Given the description of an element on the screen output the (x, y) to click on. 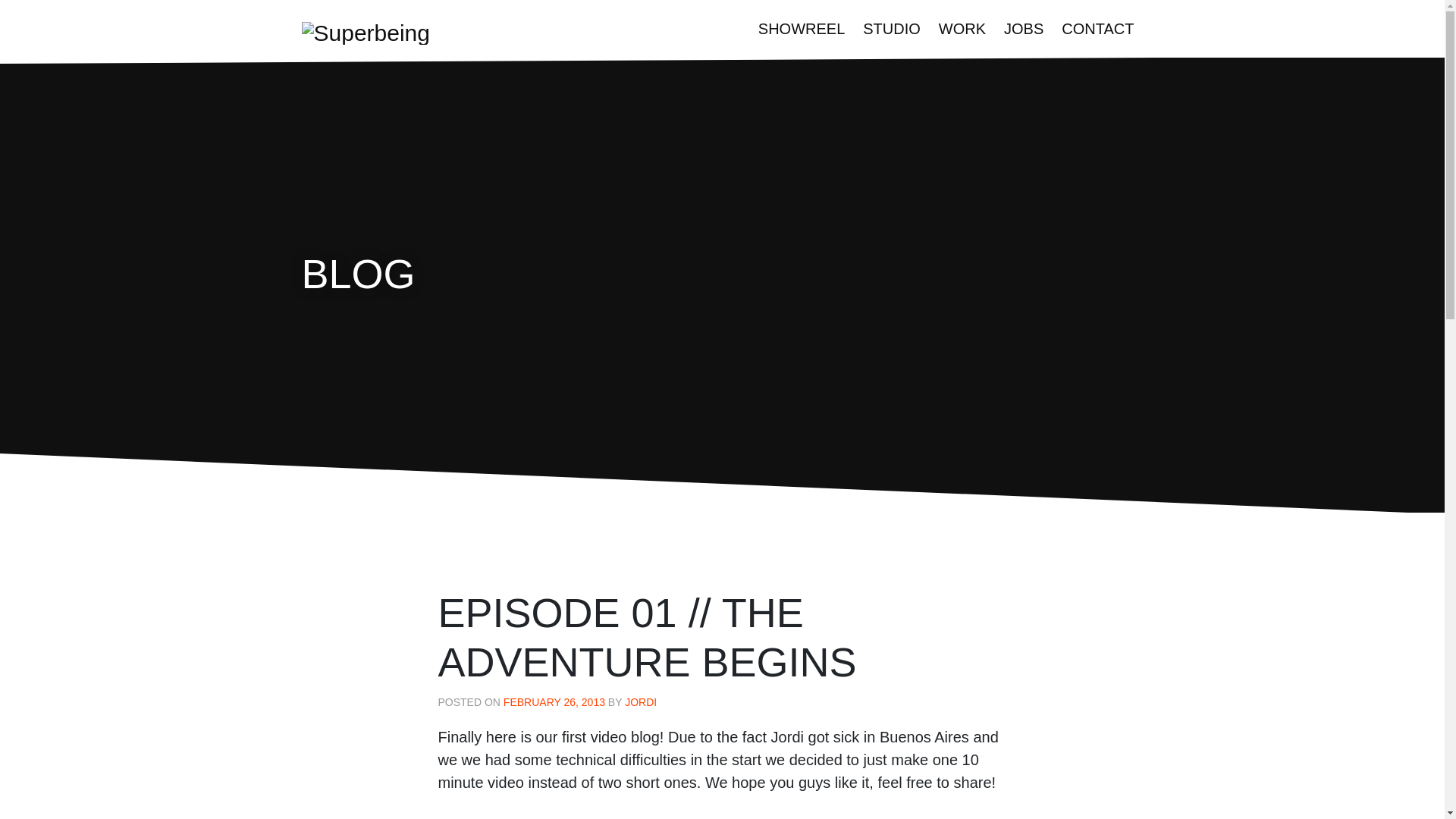
JORDI (640, 702)
WORK (962, 28)
SHOWREEL (801, 28)
STUDIO (891, 28)
JOBS (1023, 28)
CONTACT (1097, 28)
View all posts by Jordi (640, 702)
Superbeing (365, 31)
FEBRUARY 26, 2013 (554, 702)
